Given the description of an element on the screen output the (x, y) to click on. 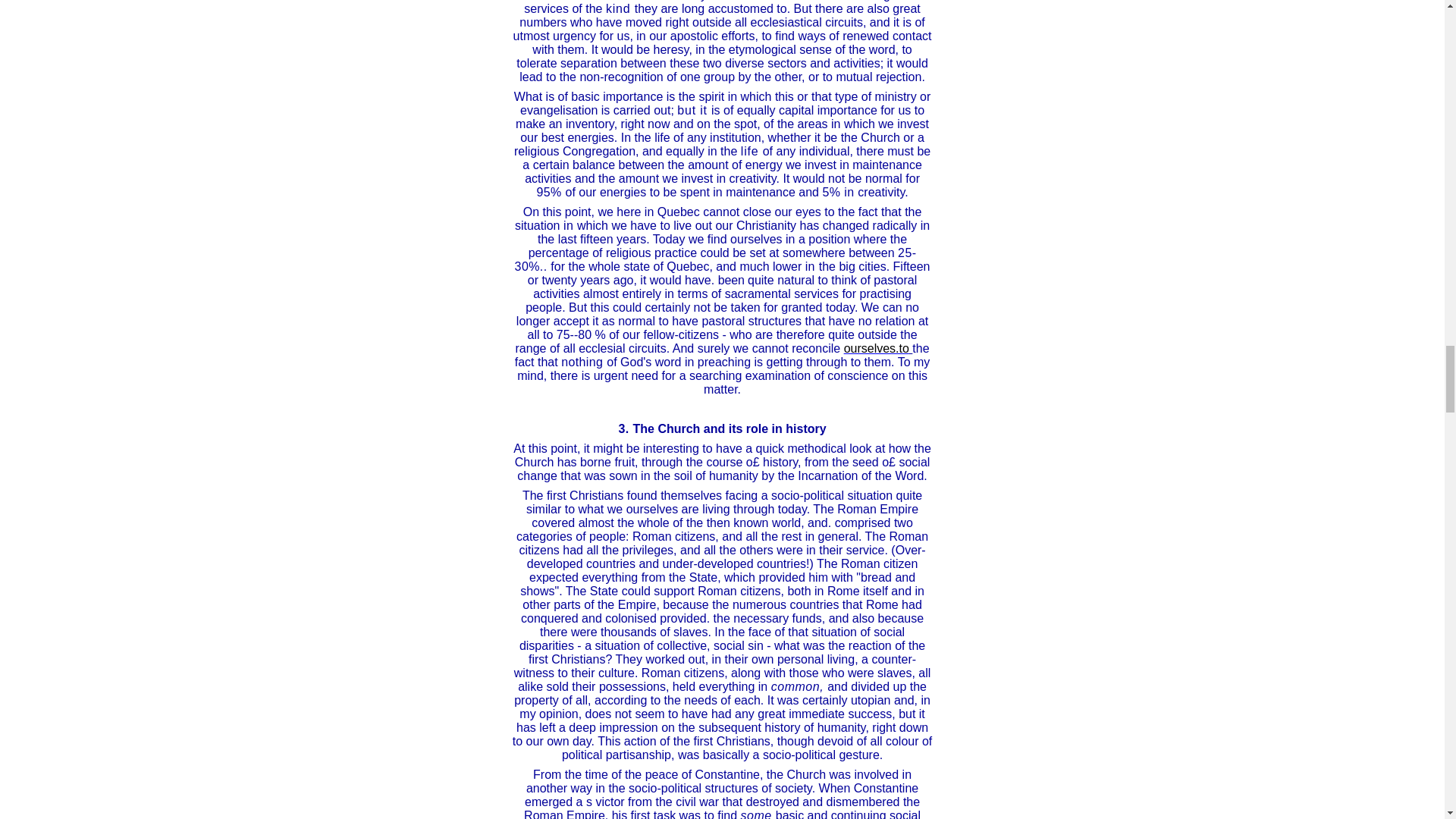
ourselves.to (876, 348)
